Given the description of an element on the screen output the (x, y) to click on. 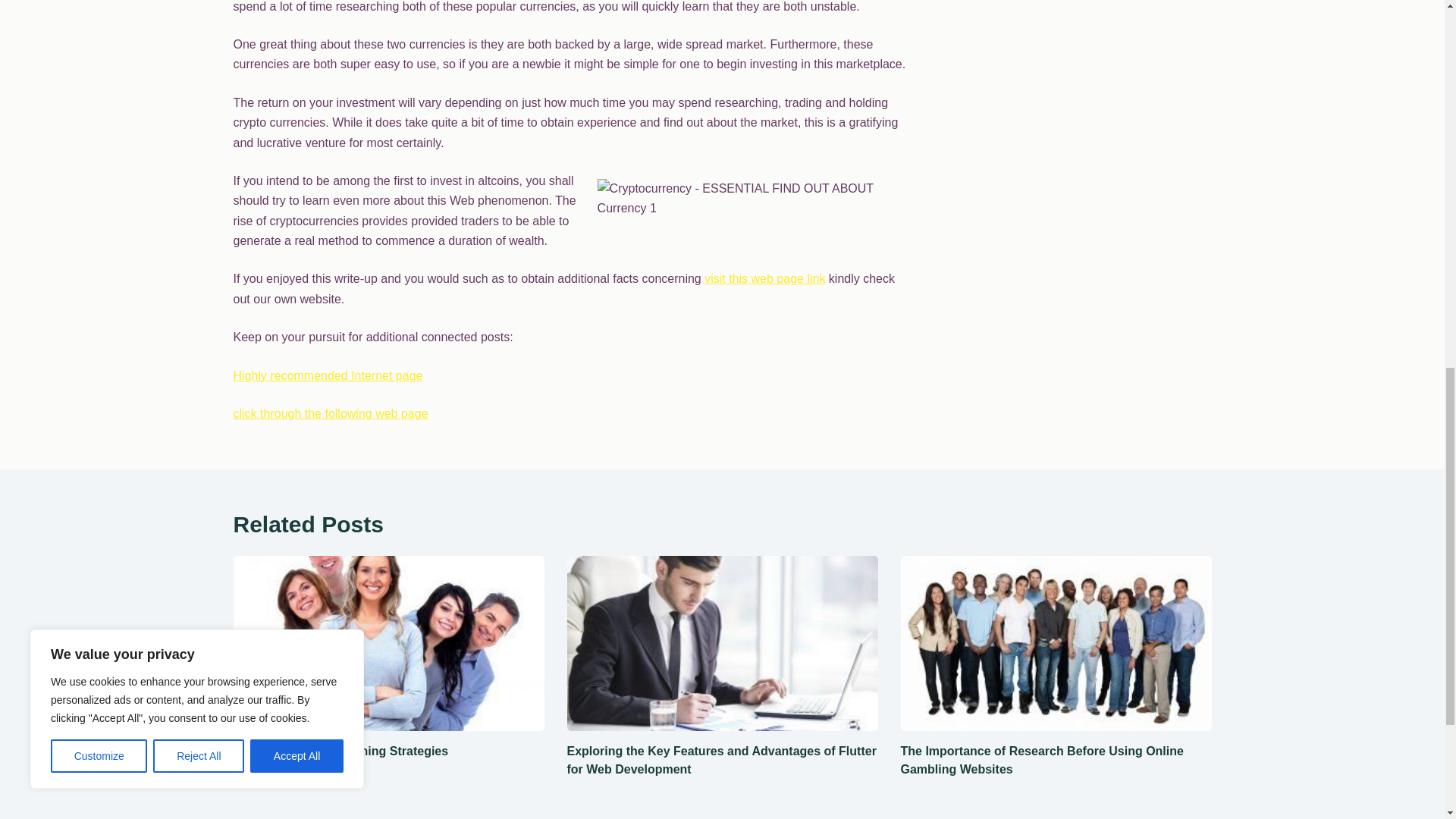
visit this web page link (764, 278)
Highly recommended Internet page (327, 375)
click through the following web page (330, 413)
